Given the description of an element on the screen output the (x, y) to click on. 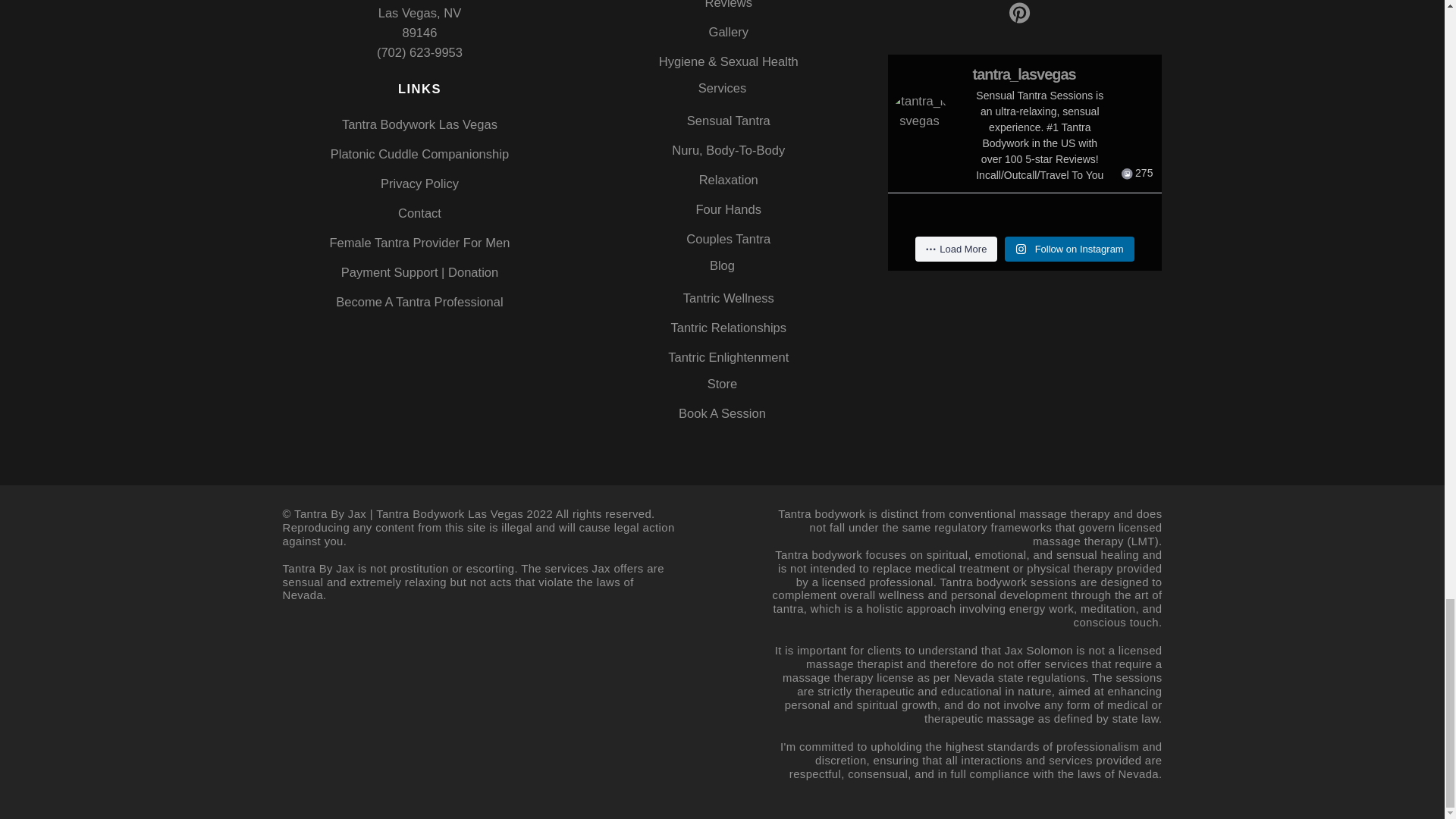
Tantra Bodywork Las Vegas (419, 124)
Contact (419, 213)
Privacy Policy (419, 183)
Become A Tantra Professional (419, 301)
Female Tantra Provider For Men (419, 242)
Platonic Cuddle Companionship (419, 154)
